Given the description of an element on the screen output the (x, y) to click on. 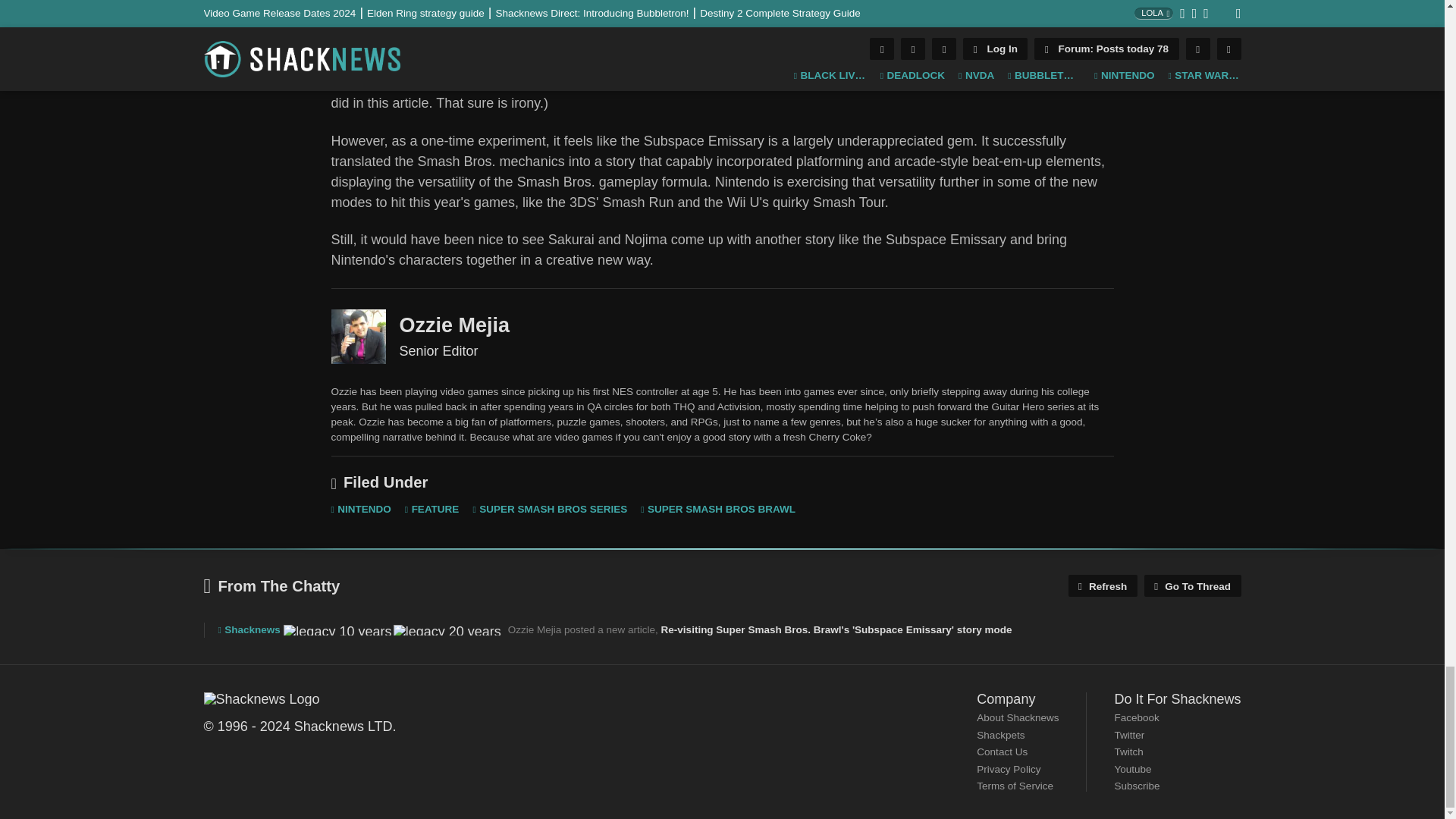
legacy 20 years (446, 629)
Senior Editor (357, 336)
legacy 10 years (337, 629)
